Given the description of an element on the screen output the (x, y) to click on. 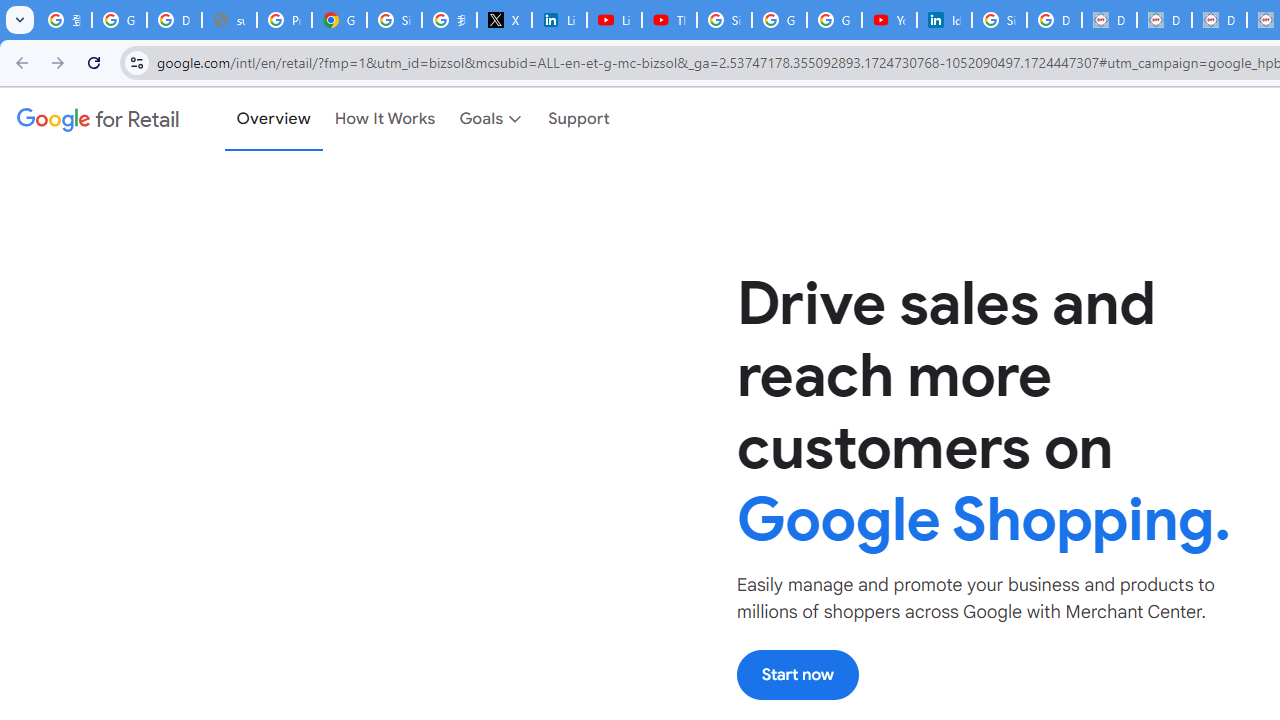
Data Privacy Framework (1108, 20)
Support (579, 119)
Data Privacy Framework (1218, 20)
LinkedIn - YouTube (614, 20)
Goals (491, 119)
Sign in - Google Accounts (724, 20)
